Given the description of an element on the screen output the (x, y) to click on. 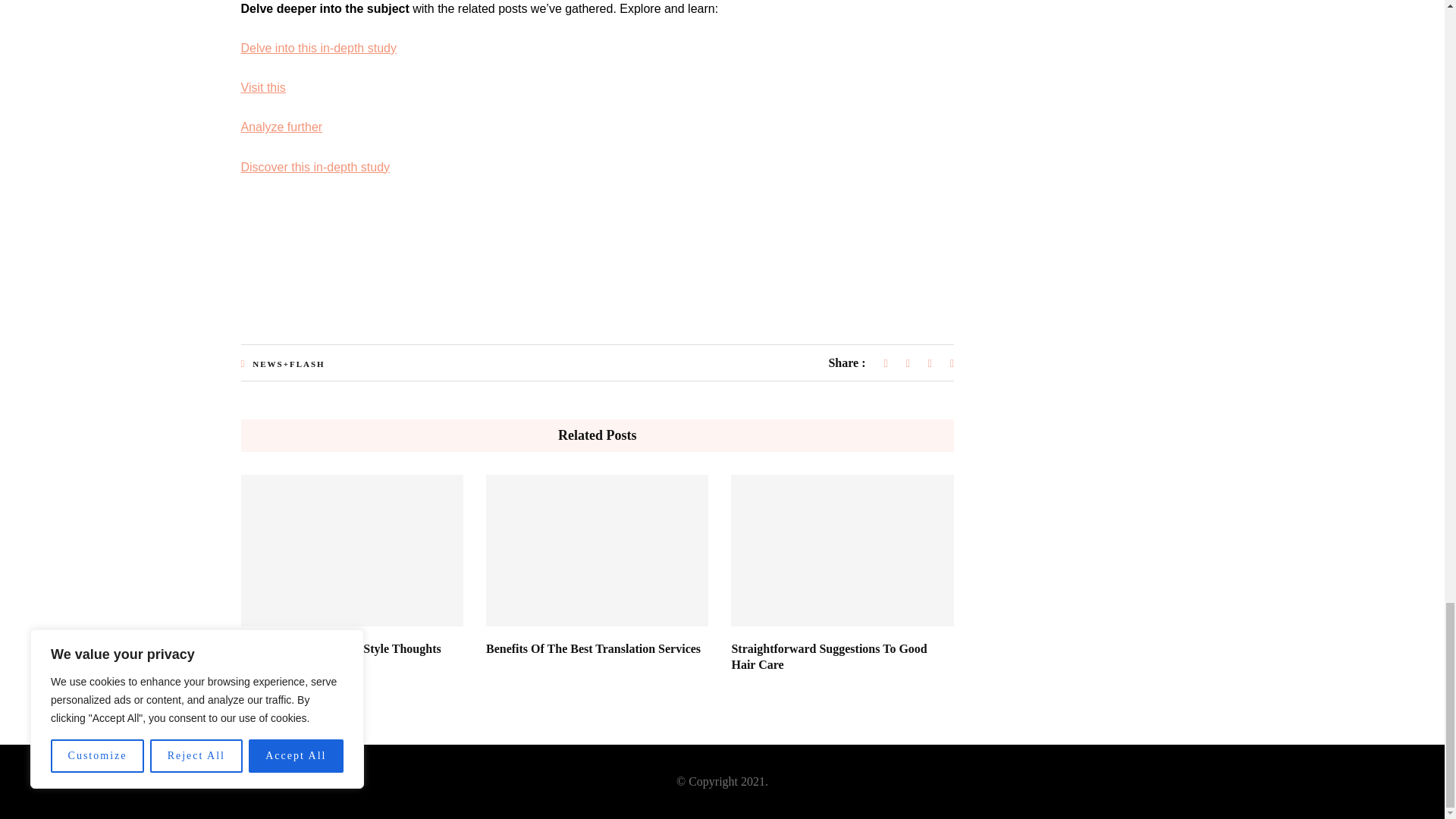
Straightforward Suggestions To Good Hair Care (828, 656)
Visit this (263, 87)
Discover this in-depth study (315, 166)
Delve into this in-depth study (318, 47)
Analyze further (282, 126)
Rest Room Design And Style Thoughts (341, 648)
Benefits Of The Best Translation Services (593, 648)
